Given the description of an element on the screen output the (x, y) to click on. 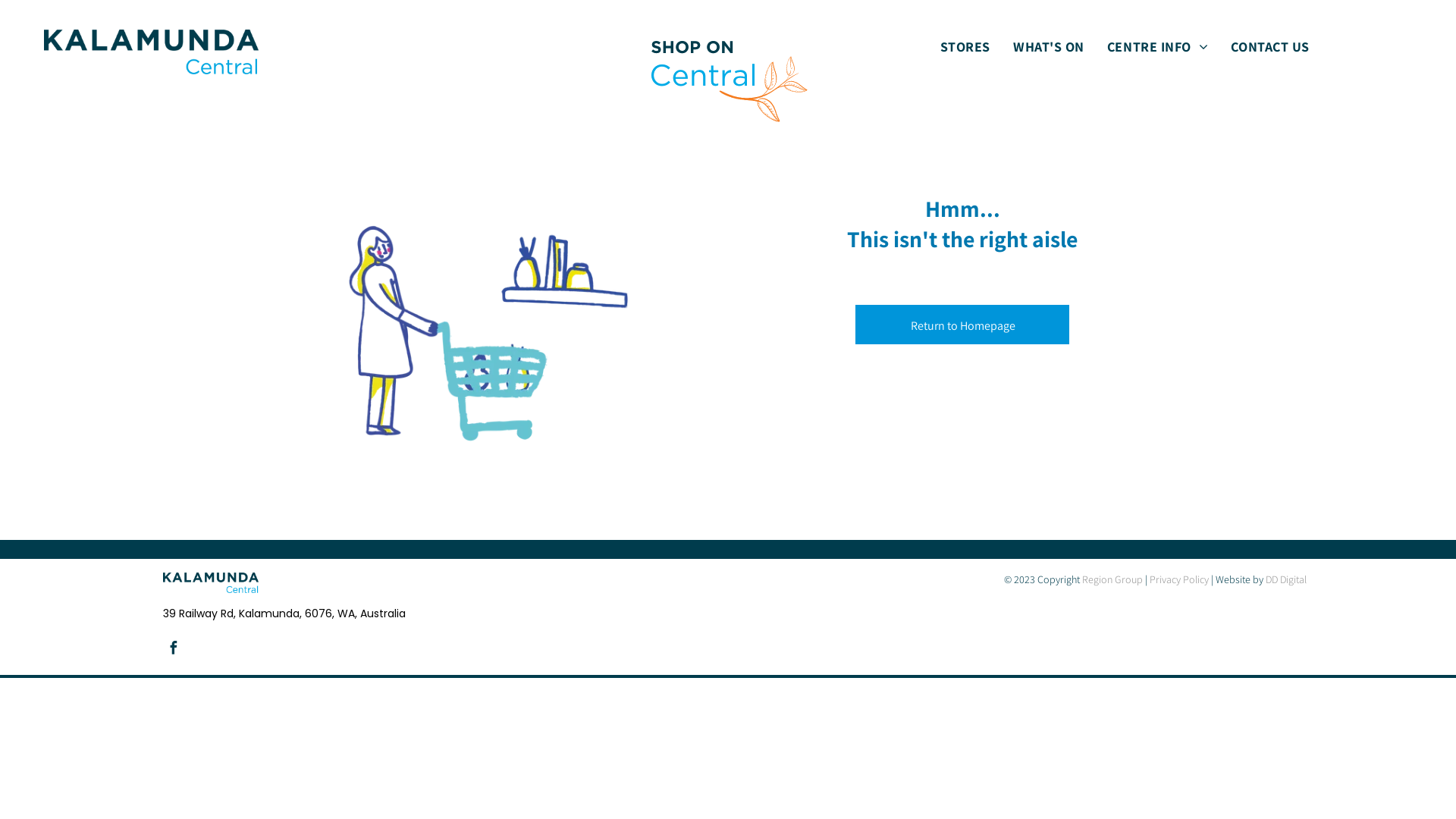
Privacy Policy Element type: text (1178, 579)
CONTACT US Element type: text (1269, 46)
Return to Homepage Element type: text (962, 324)
STORES Element type: text (964, 46)
Region Group Element type: text (1112, 579)
New Button Element type: text (727, 77)
CENTRE INFO Element type: text (1157, 46)
DD Digital Element type: text (1285, 579)
WHAT'S ON Element type: text (1048, 46)
